Given the description of an element on the screen output the (x, y) to click on. 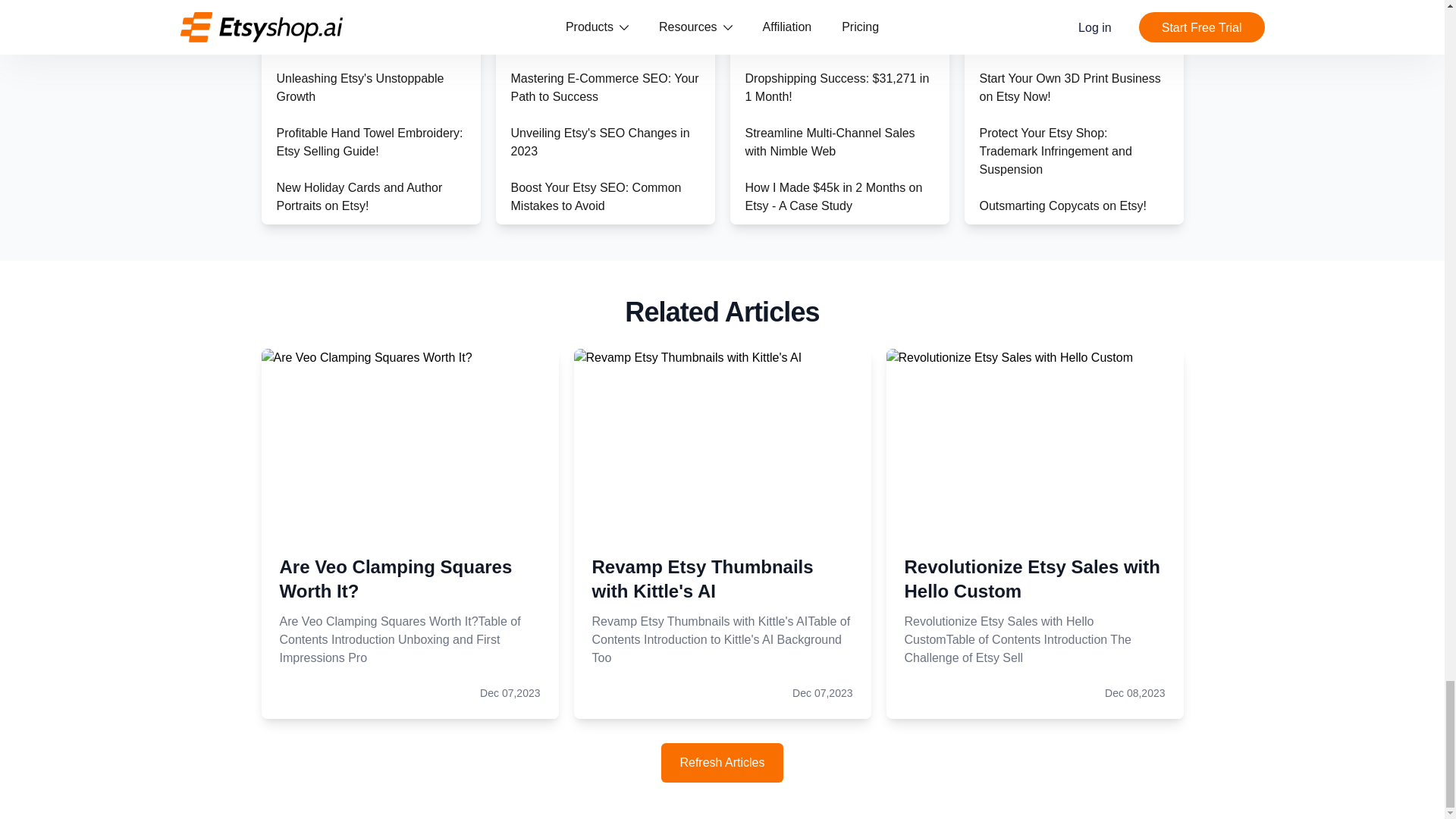
Profitable Hand Towel Embroidery: Etsy Selling Guide! (369, 142)
New Holiday Cards and Author Portraits on Etsy! (359, 196)
Maximizing Profit: Etsy vs Poshmark (344, 542)
Boost Your Etsy SEO: Common Mistakes to Avoid (596, 196)
Unleashing Etsy's Unstoppable Growth (360, 87)
Unboxing Beautiful Orchids from Etsy's Triton Orchids (362, 414)
Mastering SEO Writing for Online Success (600, 305)
ETSY STAR SELLER Secrets Revealed (356, 250)
Master the Art of Selling Posters on Etsy (831, 32)
Boost Your Etsy SEO in 2023 (589, 514)
Exciting Update: My First Plushie Arrived! - Business Vlog (365, 305)
Maximizing Marmalade for Etsy SEO Success (595, 469)
Unveiling Etsy's SEO Changes in 2023 (600, 142)
Unbridled Etsy Battles: KingCobraJFS vs the World (350, 359)
Discover Untapped Print on Demand Products with ChatGPT4 (367, 32)
